Given the description of an element on the screen output the (x, y) to click on. 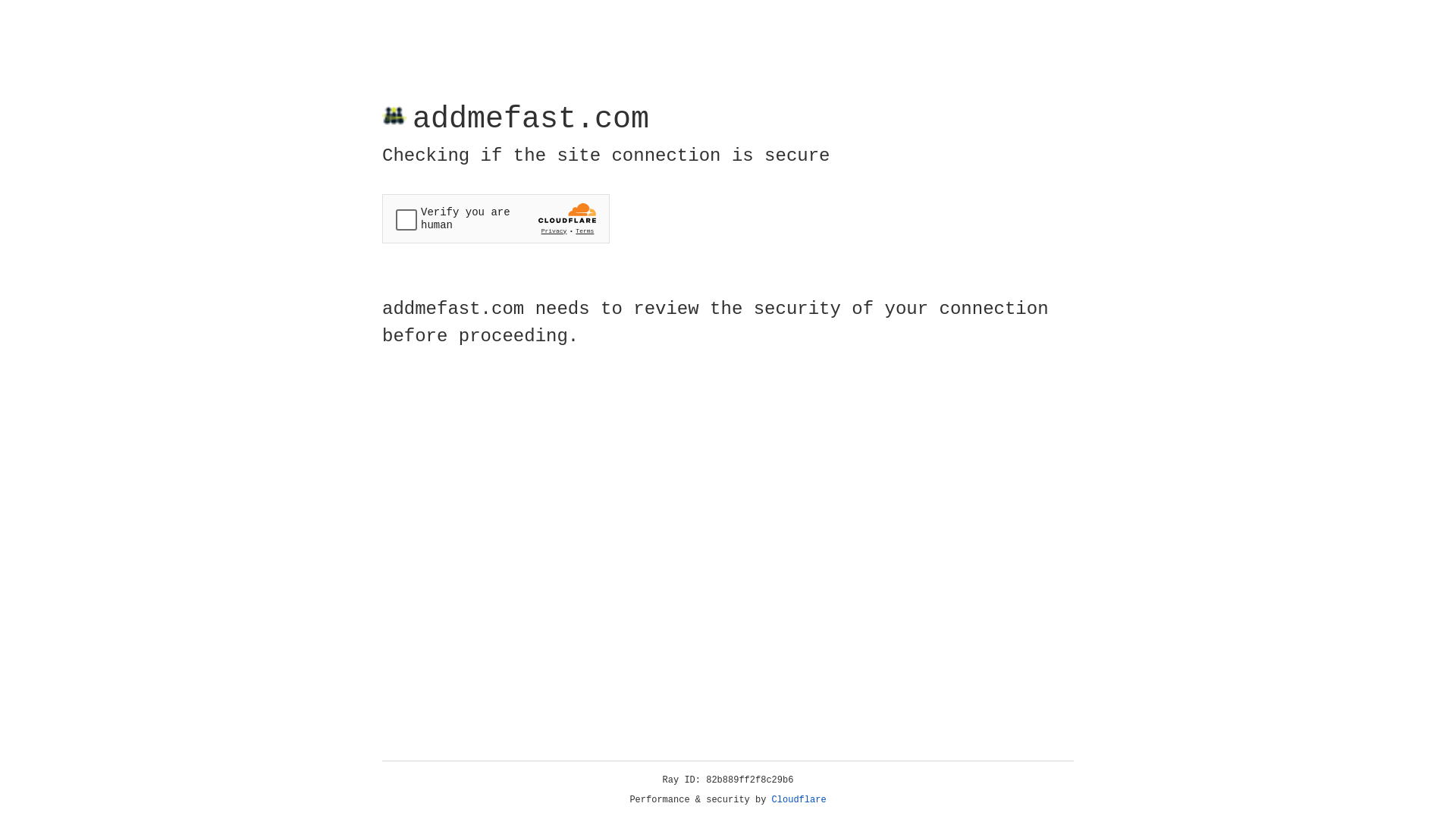
Widget containing a Cloudflare security challenge Element type: hover (495, 218)
Cloudflare Element type: text (798, 799)
